Given the description of an element on the screen output the (x, y) to click on. 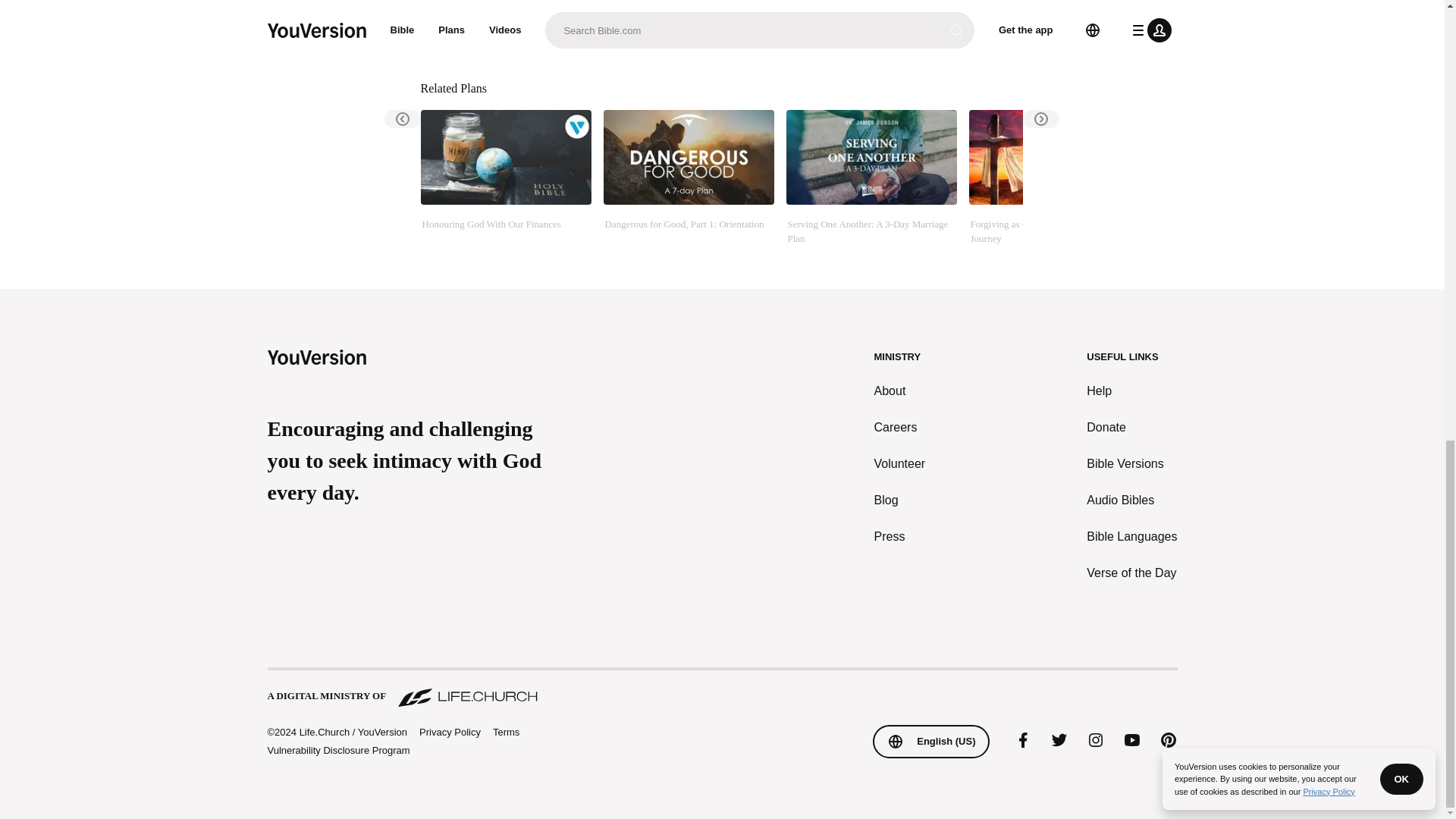
A DIGITAL MINISTRY OF (721, 688)
Volunteer (900, 464)
Forgiving as Christ Forgave: A 7-Day Journey (1054, 177)
Blog (900, 500)
Honouring God With Our Finances (505, 177)
About The Publisher (514, 31)
Bible Versions (1131, 464)
Vulnerability Disclosure Program (337, 749)
Bible Languages (1131, 536)
Verse of the Day (1131, 573)
